Given the description of an element on the screen output the (x, y) to click on. 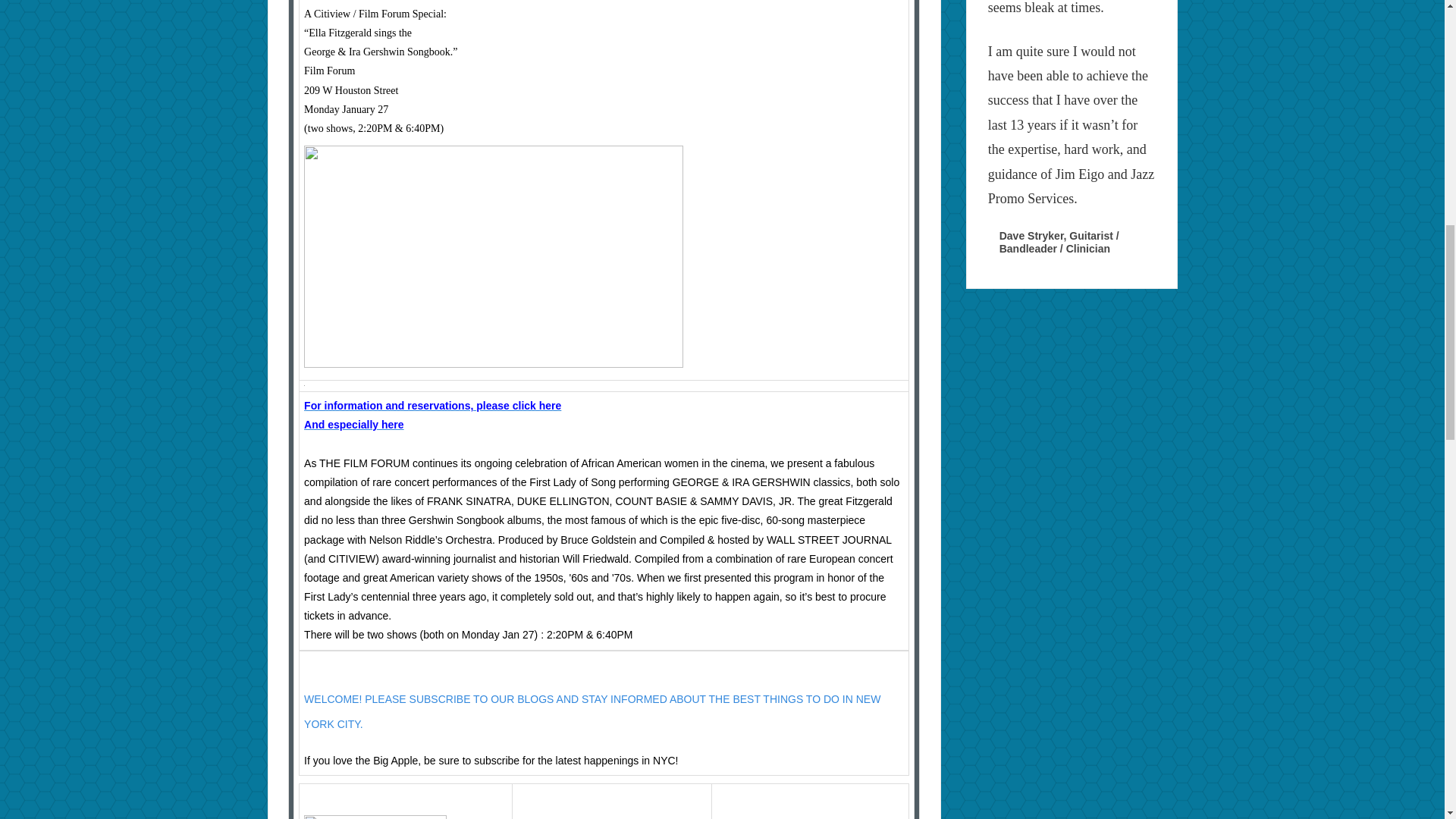
And especially here (354, 424)
For information and reservations, please click here (432, 405)
